Given the description of an element on the screen output the (x, y) to click on. 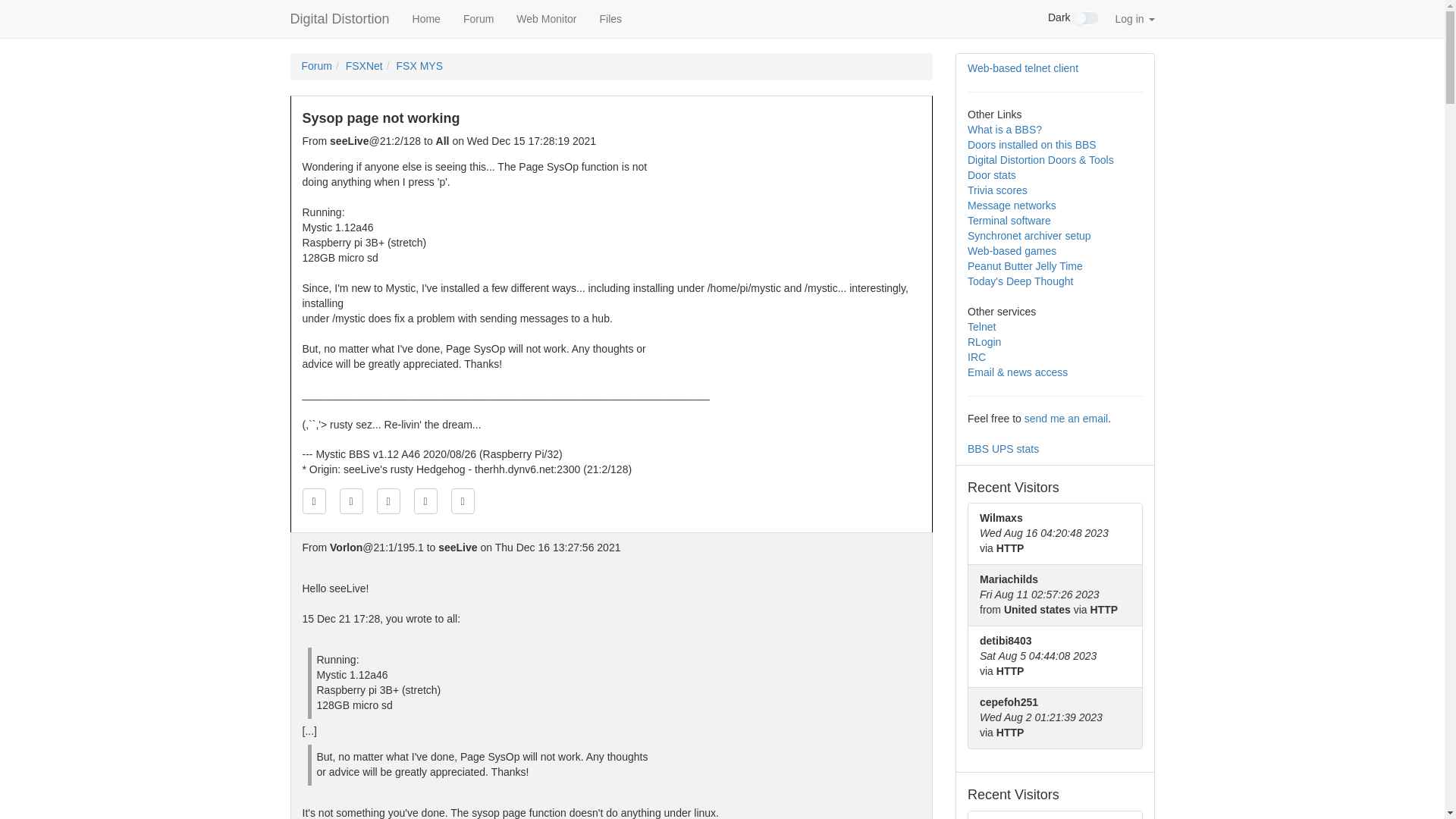
Forum (316, 65)
Forum (478, 18)
Jump to next message (425, 501)
FSXNet (364, 65)
Log in (1134, 18)
Web Monitor (546, 18)
Jump to newest message (462, 501)
Files (610, 18)
Direct link to this message (388, 501)
Home (426, 18)
Digital Distortion (340, 18)
FSX MYS (419, 65)
Jump to previous message (350, 501)
Jump to oldest message (312, 501)
